Given the description of an element on the screen output the (x, y) to click on. 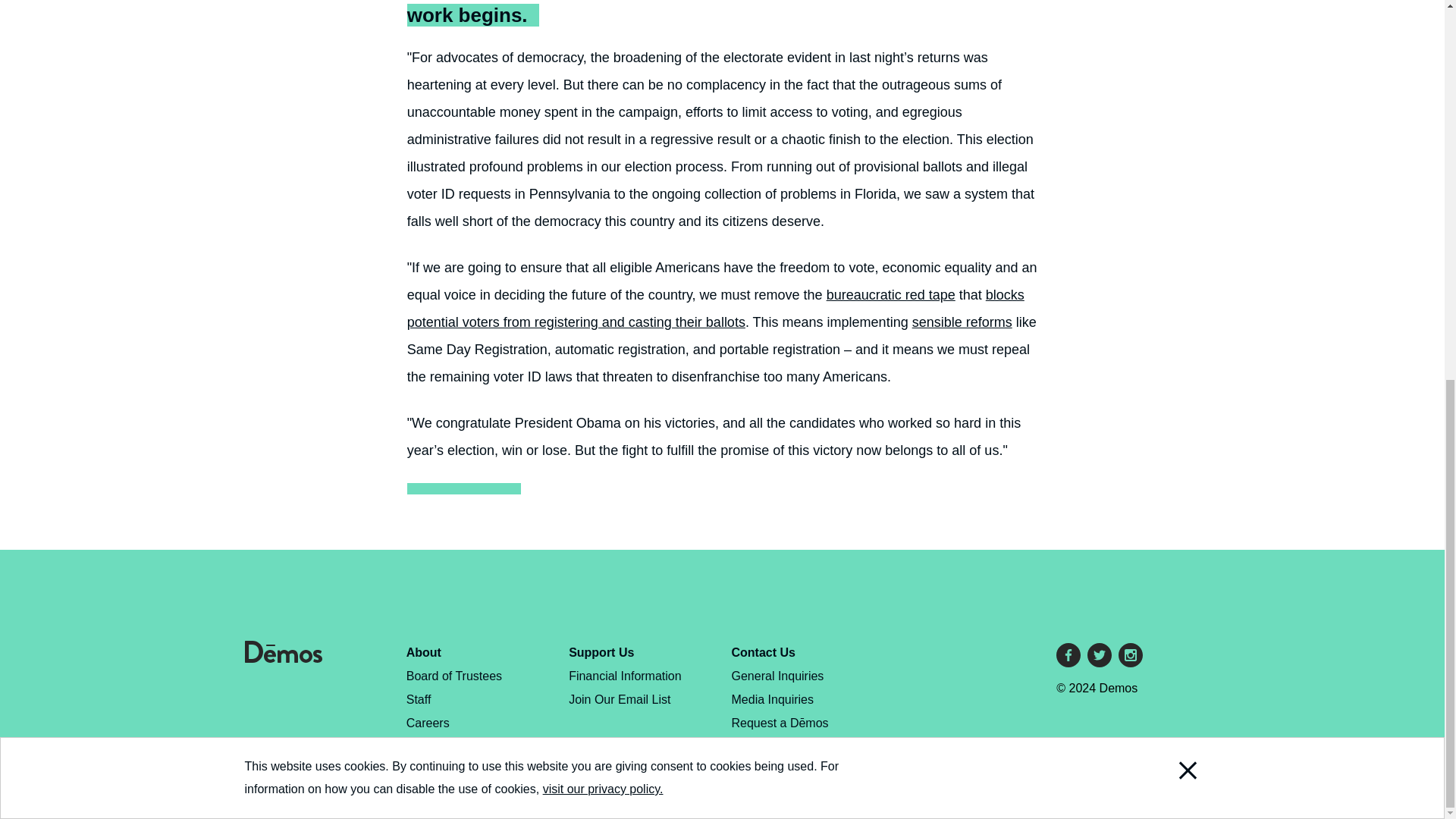
About Demos (423, 652)
Financial Information (625, 675)
Board of Trustees (454, 675)
Facebook (1068, 654)
Support Us (601, 652)
Complete a Demos speaker request (780, 734)
sensible reforms (961, 322)
Privacy Policy (443, 746)
Careers (427, 722)
Twitter (1099, 654)
Home (282, 658)
General Inquiries (778, 675)
About (423, 652)
Reprint Permissions (460, 769)
